Given the description of an element on the screen output the (x, y) to click on. 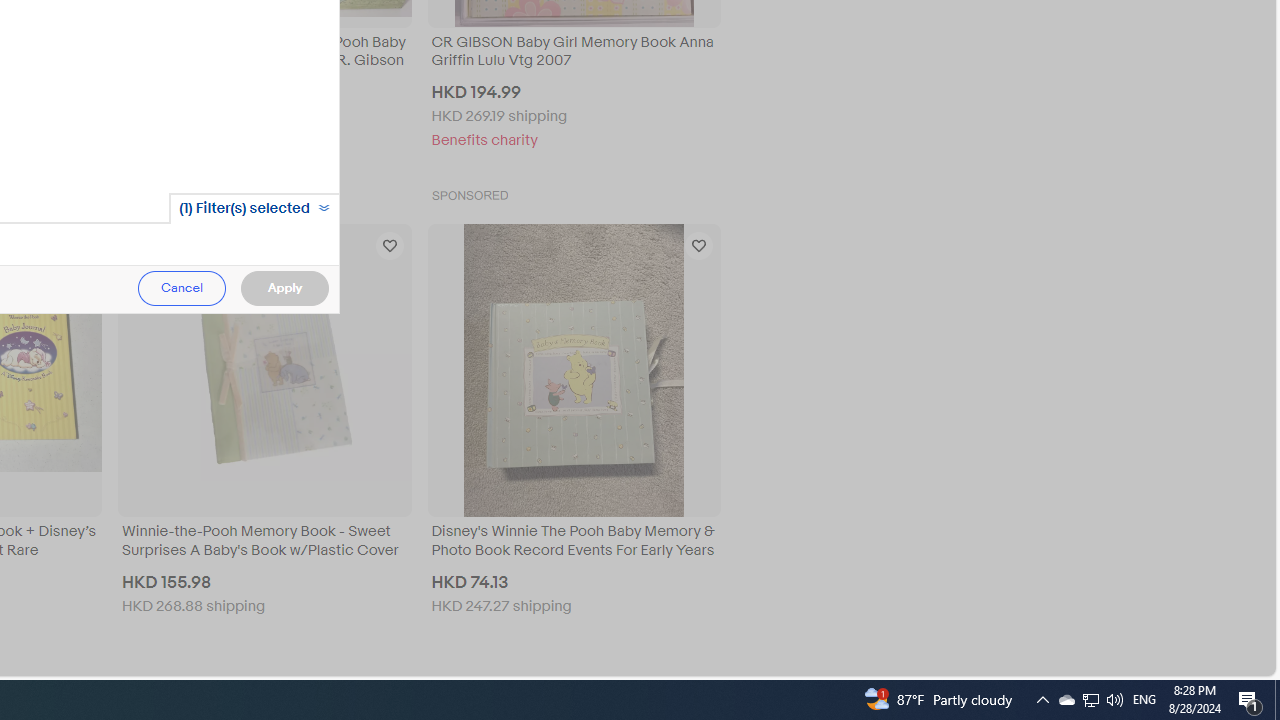
(1) Filter(s) selected (253, 207)
Cancel (182, 288)
Apply (284, 288)
